Given the description of an element on the screen output the (x, y) to click on. 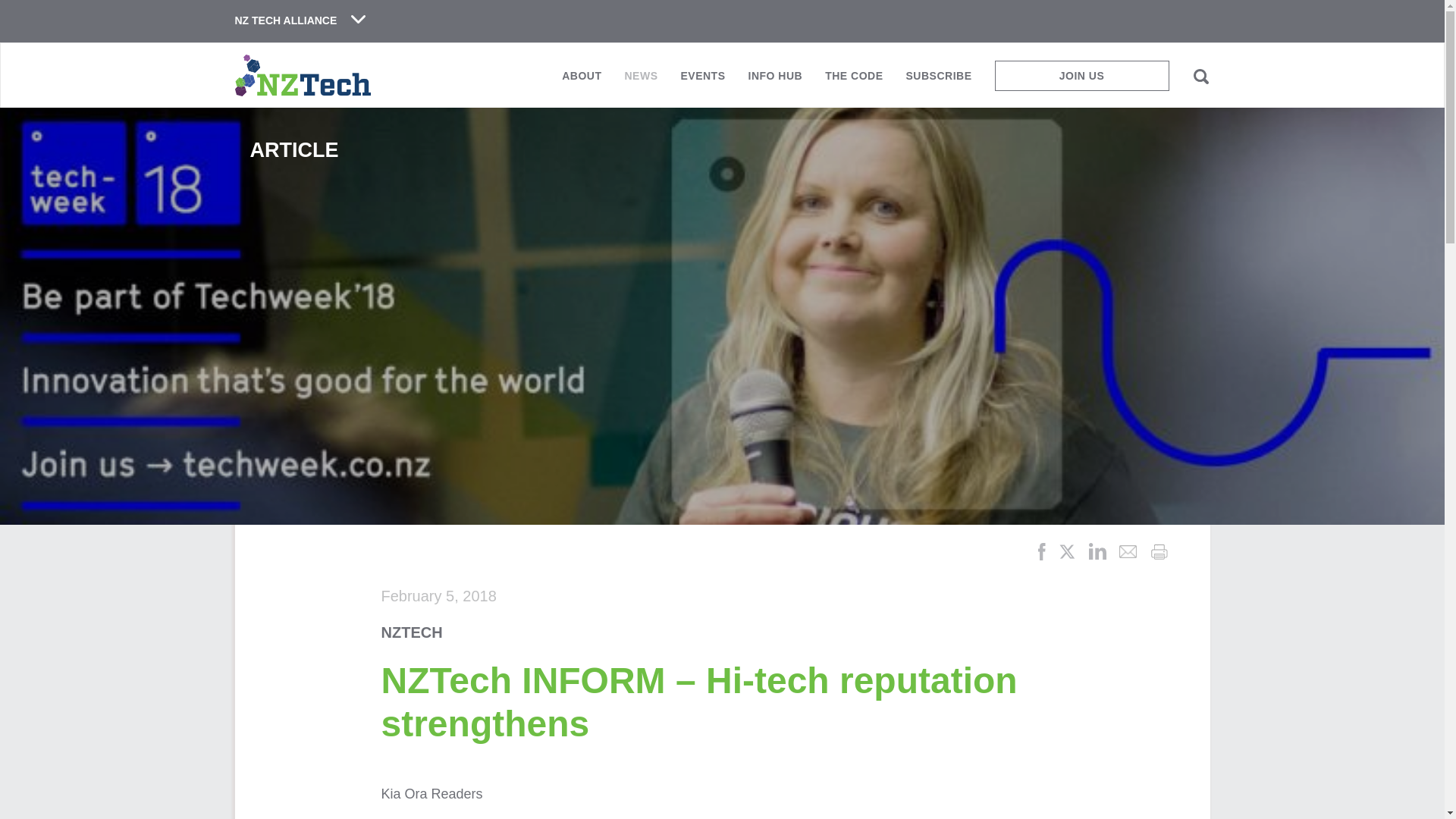
NZTech (302, 75)
Print this page (1158, 550)
ABOUT (581, 81)
